Given the description of an element on the screen output the (x, y) to click on. 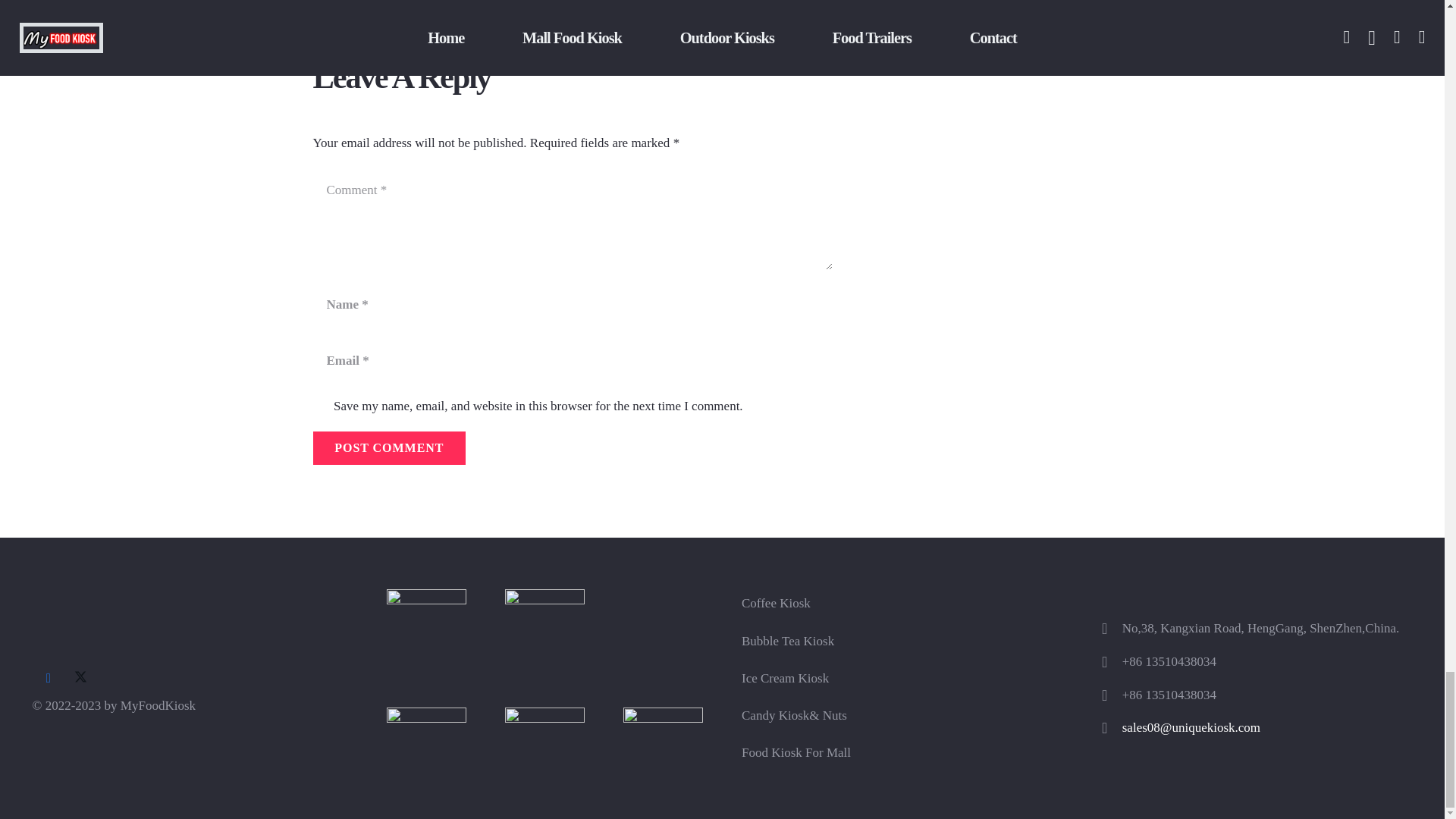
Facebook (48, 678)
Twitter (80, 678)
1 (321, 407)
